Given the description of an element on the screen output the (x, y) to click on. 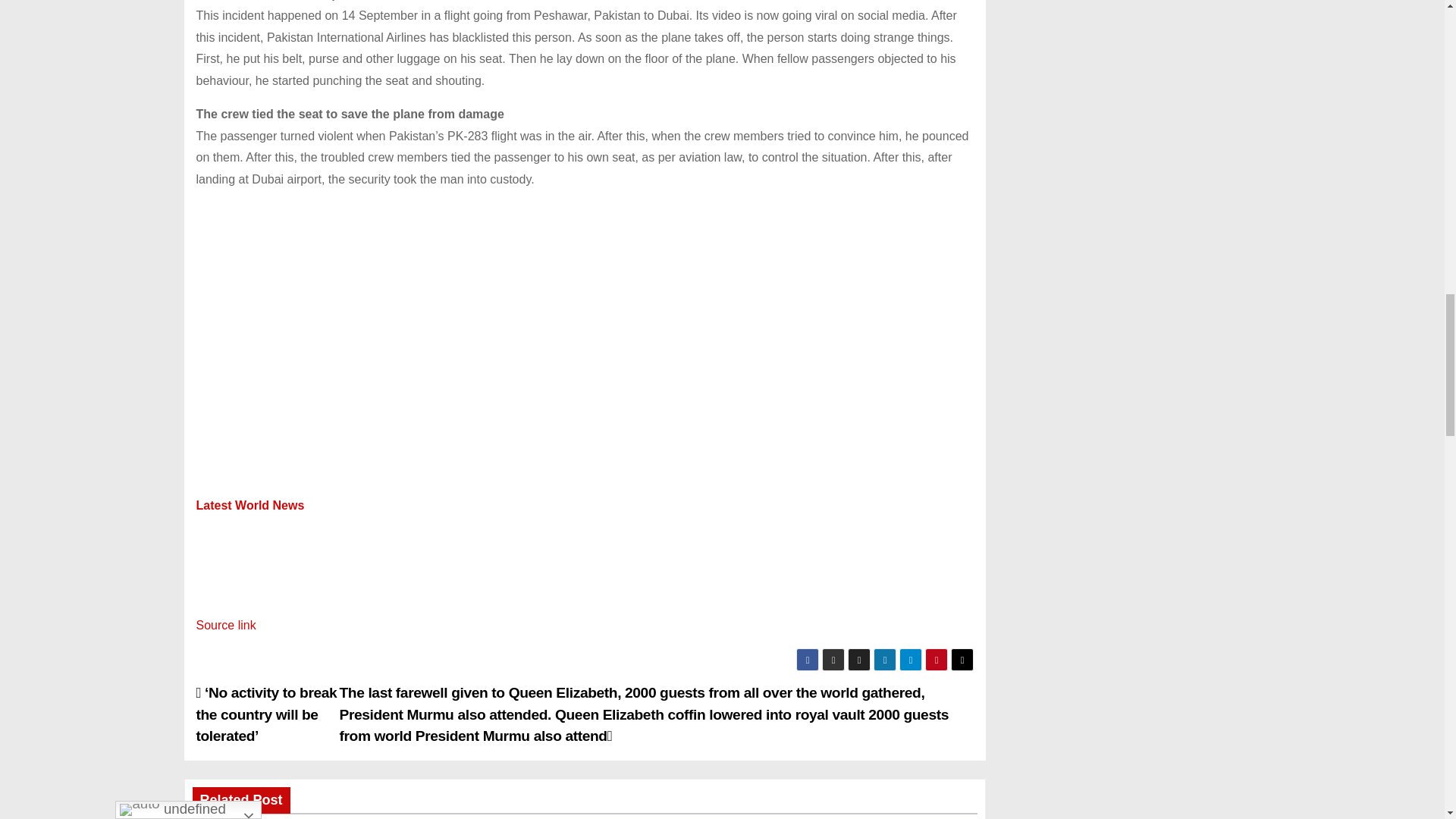
Latest World News (249, 504)
Source link (225, 625)
World News in Hindi (249, 504)
